Given the description of an element on the screen output the (x, y) to click on. 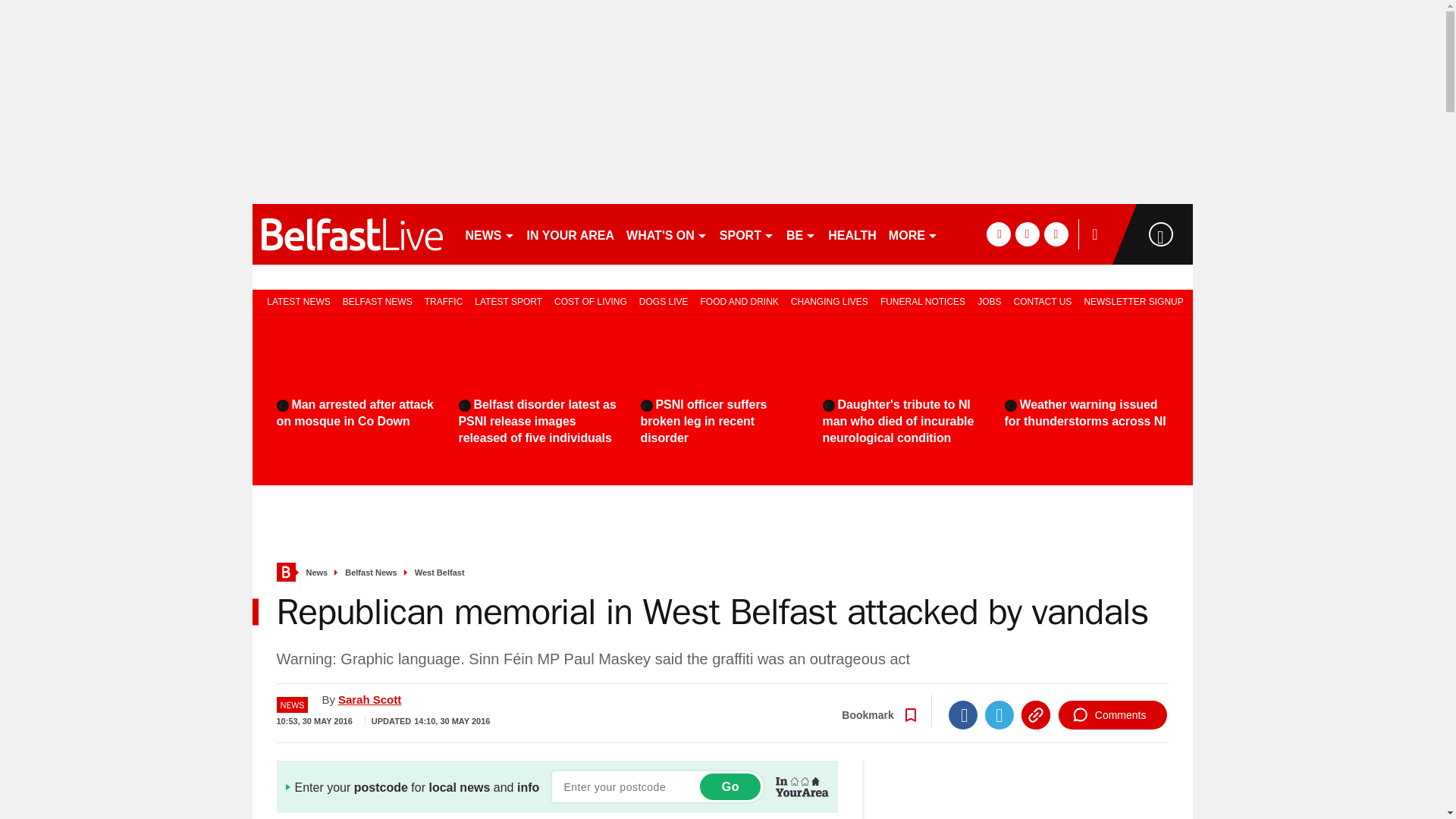
Comments (1112, 715)
SPORT (746, 233)
instagram (1055, 233)
WHAT'S ON (666, 233)
twitter (1026, 233)
IN YOUR AREA (569, 233)
Go (730, 786)
facebook (997, 233)
Twitter (999, 715)
Facebook (962, 715)
